Given the description of an element on the screen output the (x, y) to click on. 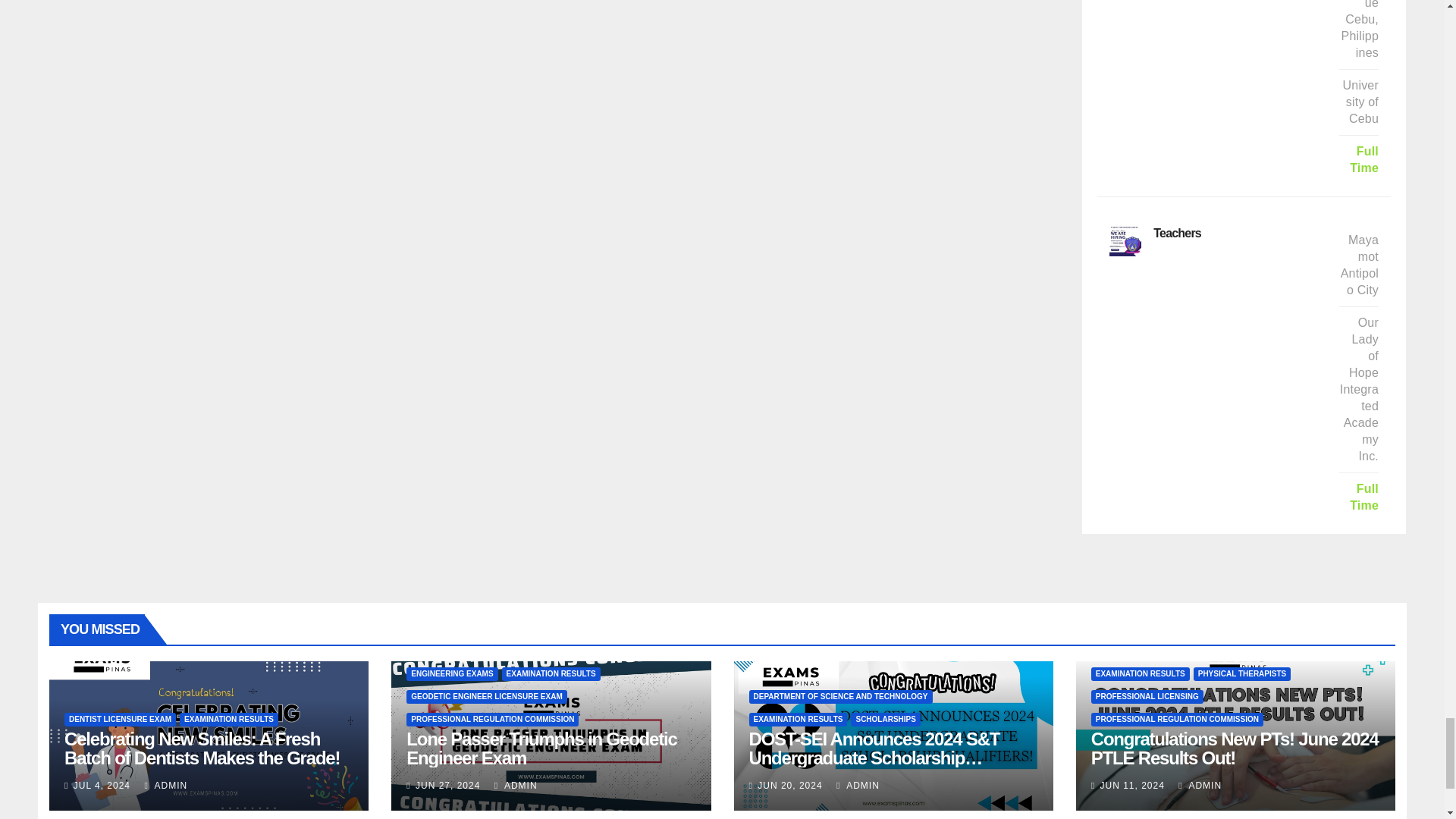
Permalink to: Lone Passer Triumphs in Geodetic Engineer Exam (541, 748)
